Given the description of an element on the screen output the (x, y) to click on. 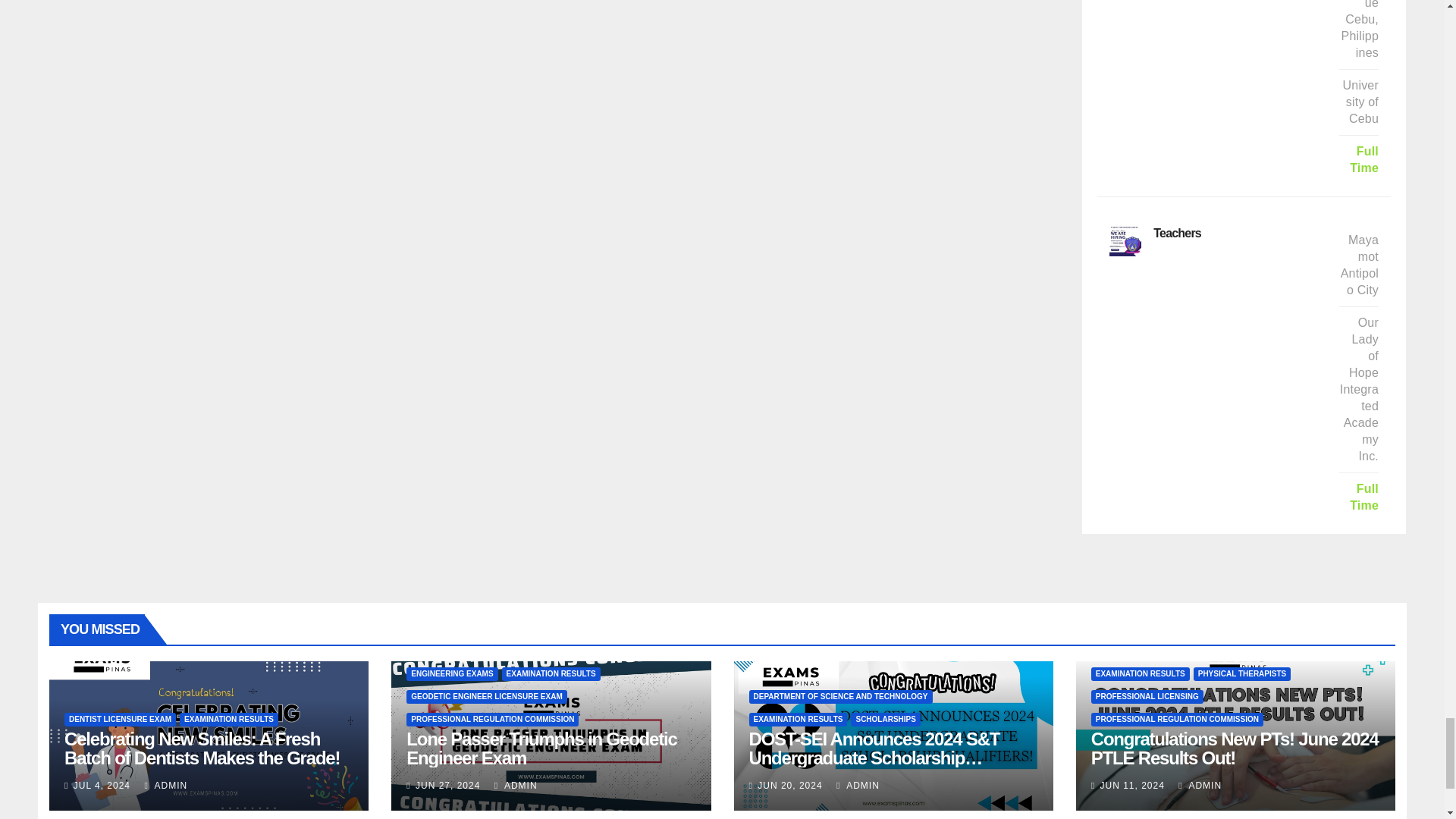
Permalink to: Lone Passer Triumphs in Geodetic Engineer Exam (541, 748)
